Given the description of an element on the screen output the (x, y) to click on. 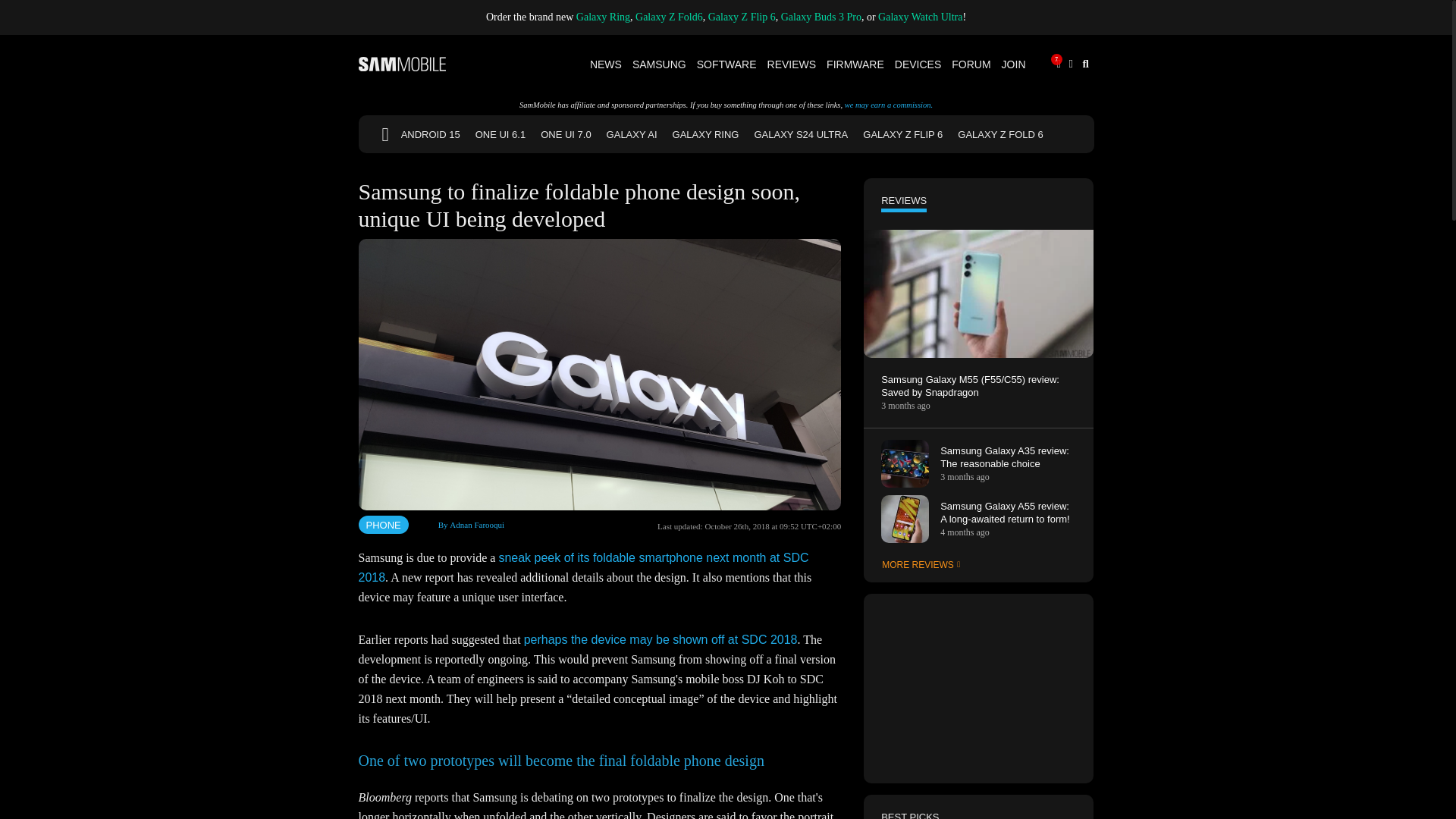
Galaxy Z Flip 6 (741, 16)
Galaxy Z Fold6 (668, 16)
Samsung (659, 64)
Galaxy Watch Ultra (919, 16)
SamMobile logo (401, 63)
Galaxy Buds 3 Pro (820, 16)
SAMSUNG (659, 64)
Galaxy Ring (603, 16)
